Given the description of an element on the screen output the (x, y) to click on. 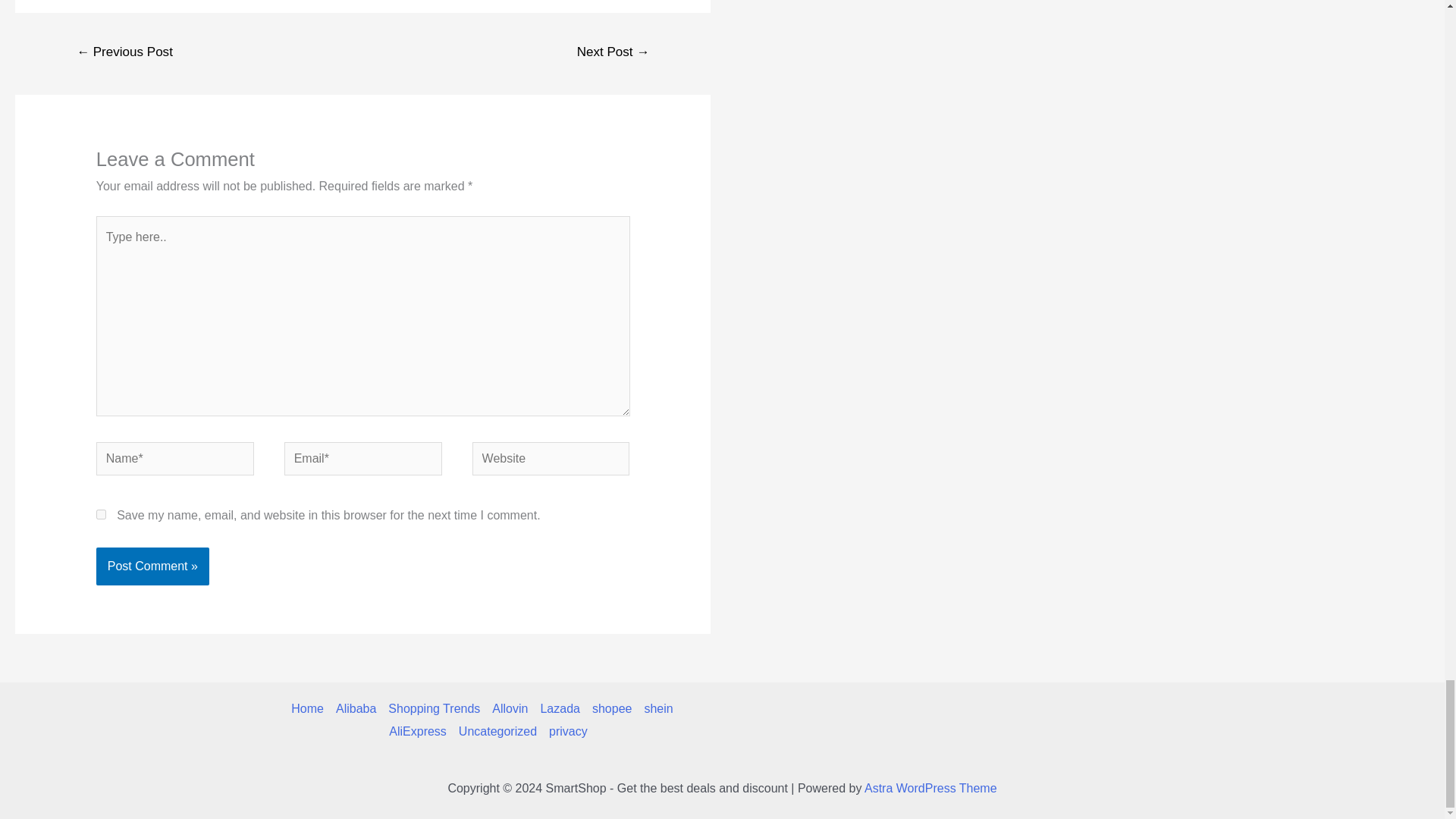
yes (101, 514)
